Given the description of an element on the screen output the (x, y) to click on. 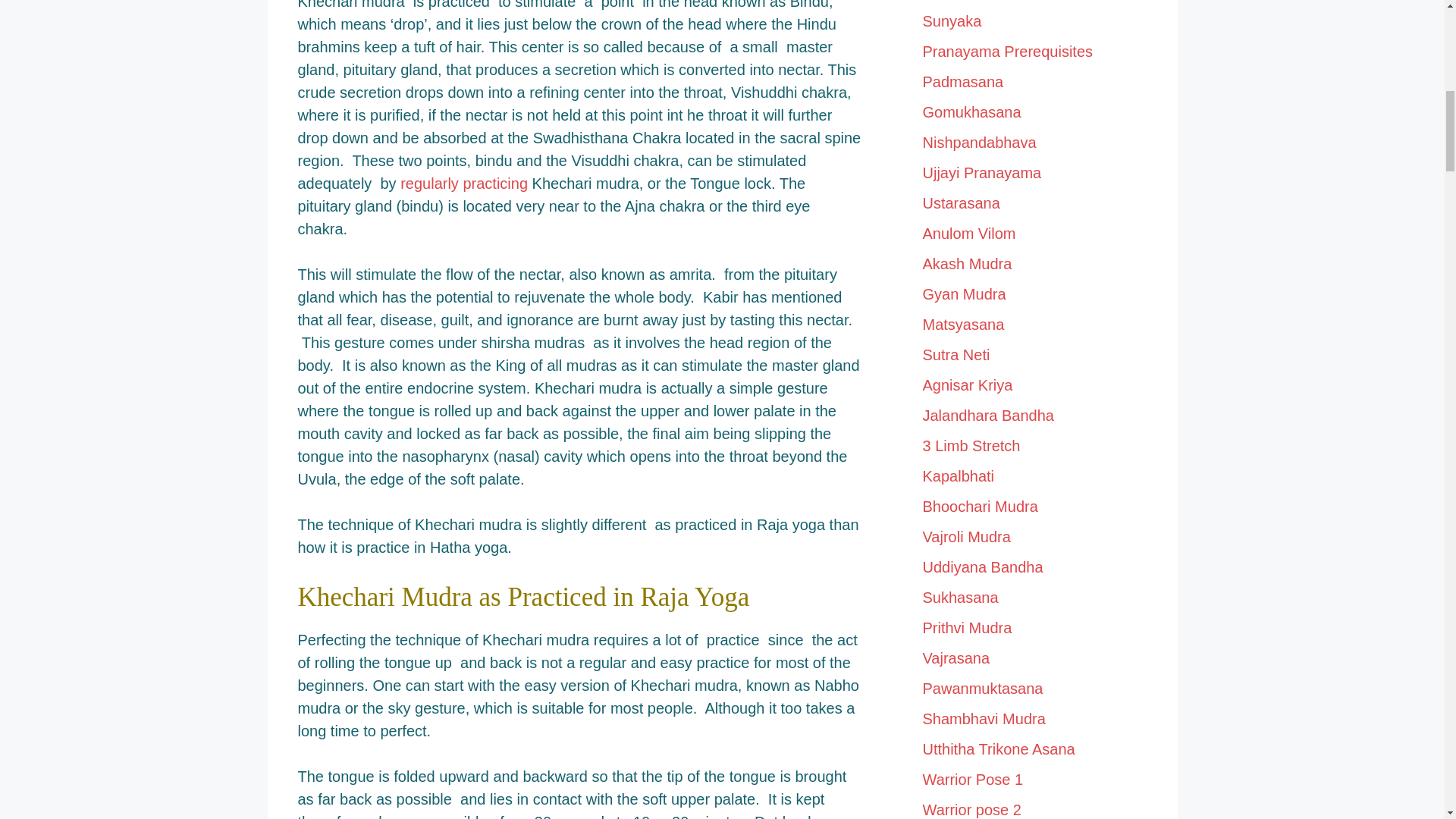
regularly practicing (463, 183)
